Given the description of an element on the screen output the (x, y) to click on. 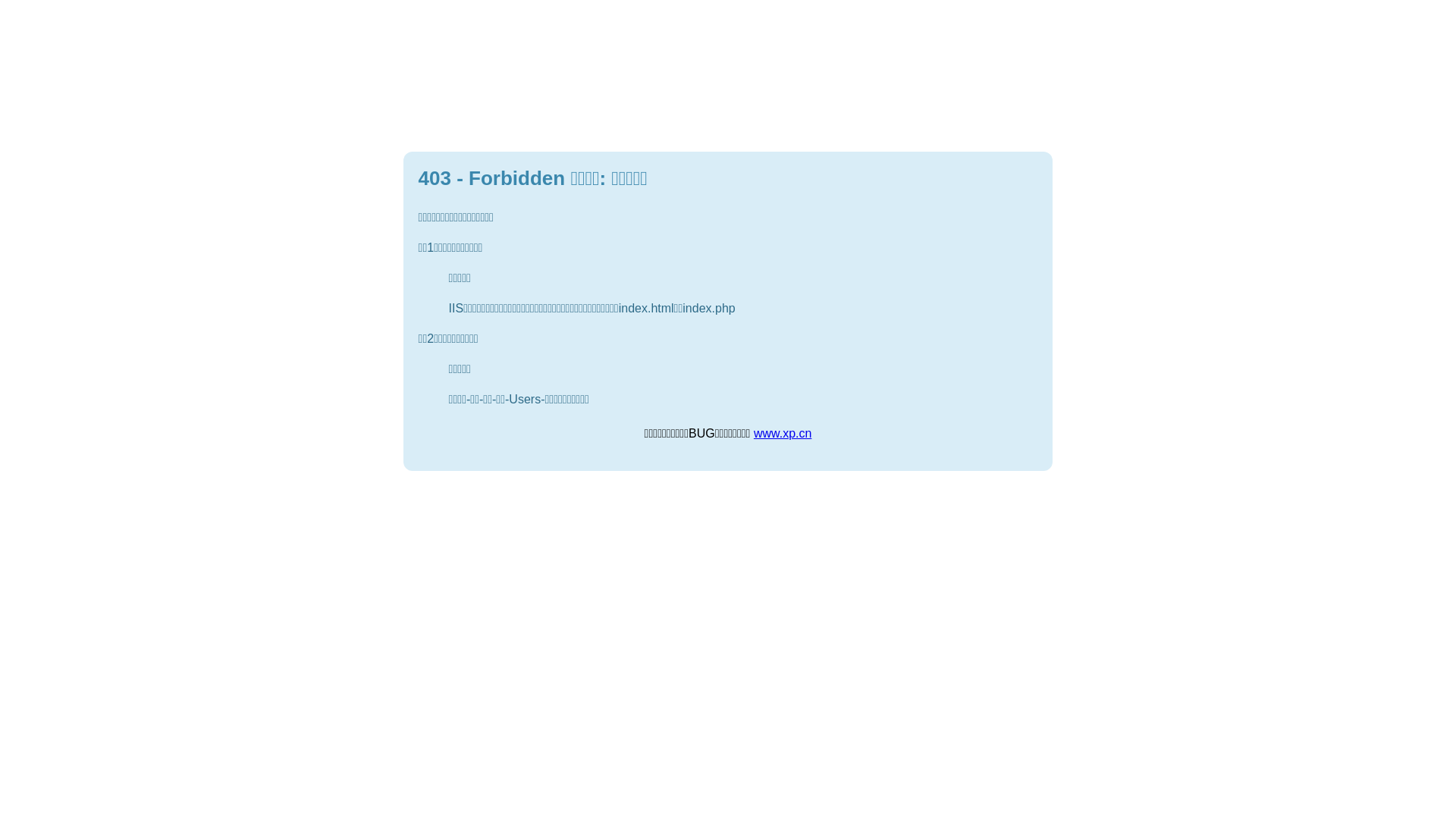
www.xp.cn Element type: text (782, 432)
